Given the description of an element on the screen output the (x, y) to click on. 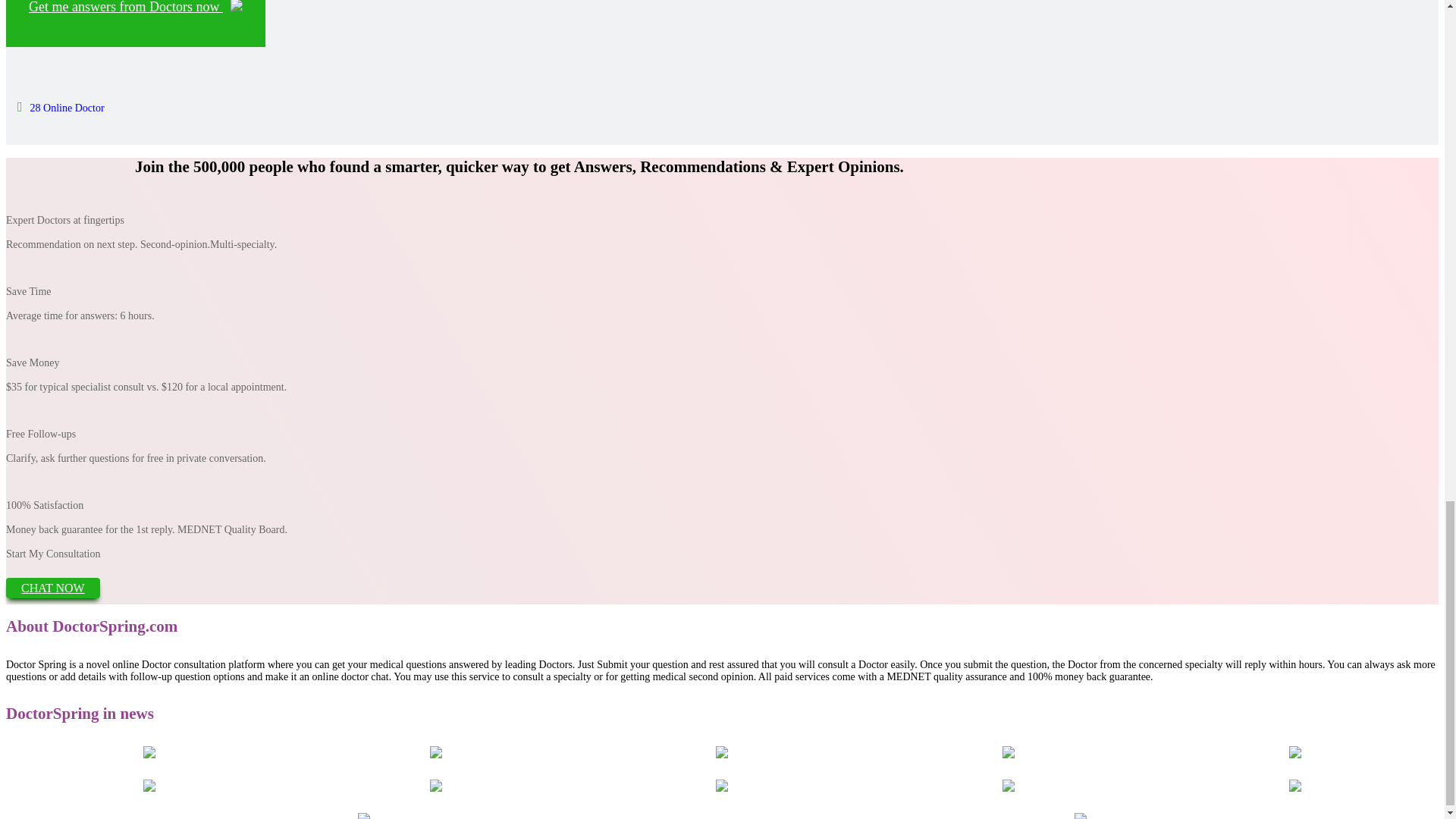
CHAT NOW (52, 588)
Get me answers from Doctors now (134, 23)
28 Online Doctor (60, 107)
Ask a Doctor now (134, 23)
